Given the description of an element on the screen output the (x, y) to click on. 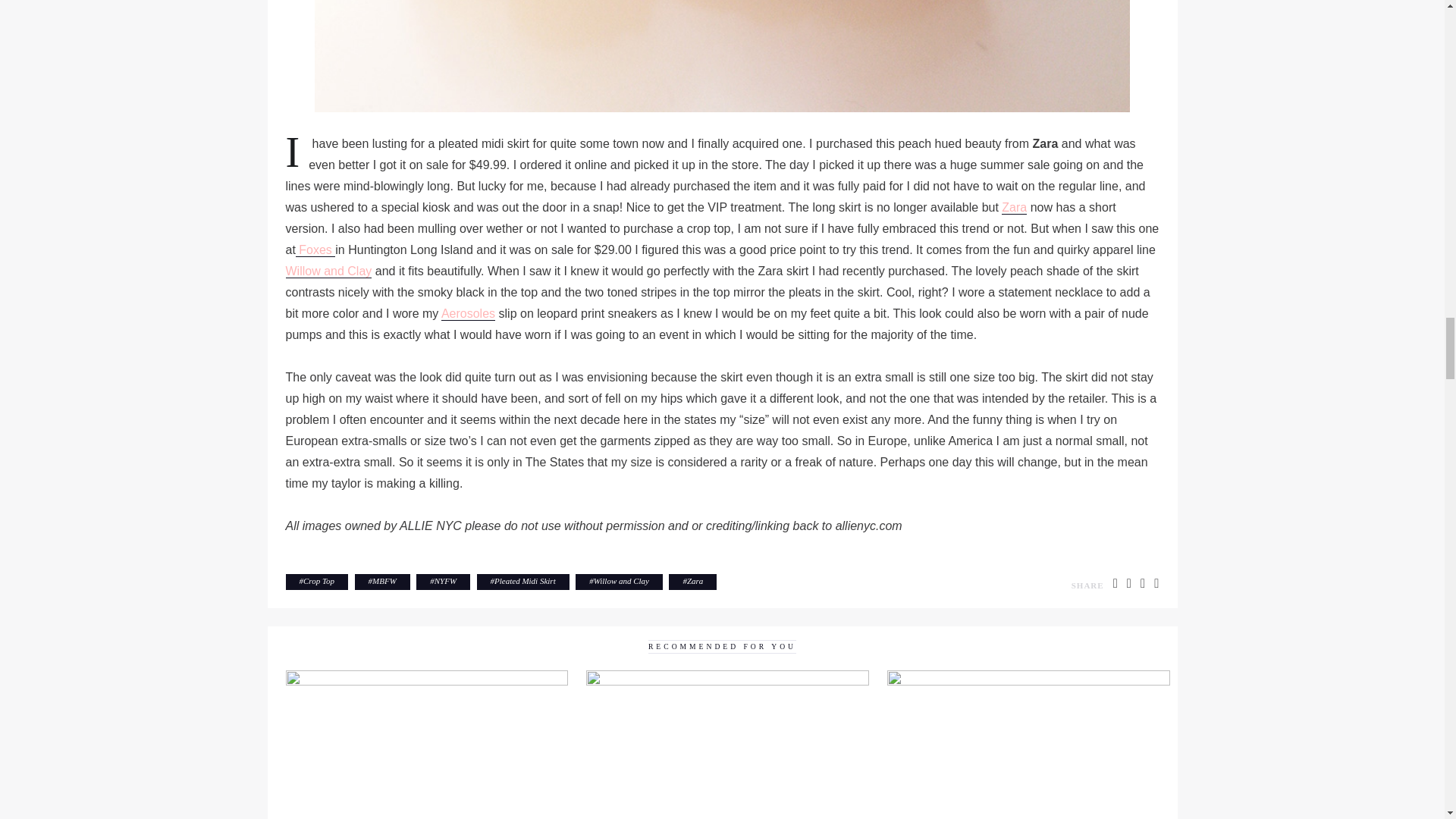
Willow and Clay (328, 271)
Crop Top (318, 580)
MBFW (384, 580)
Foxes (314, 250)
NYFW (445, 580)
Aerosoles (468, 314)
Pleated Midi Skirt (525, 580)
Zara (1013, 207)
